Given the description of an element on the screen output the (x, y) to click on. 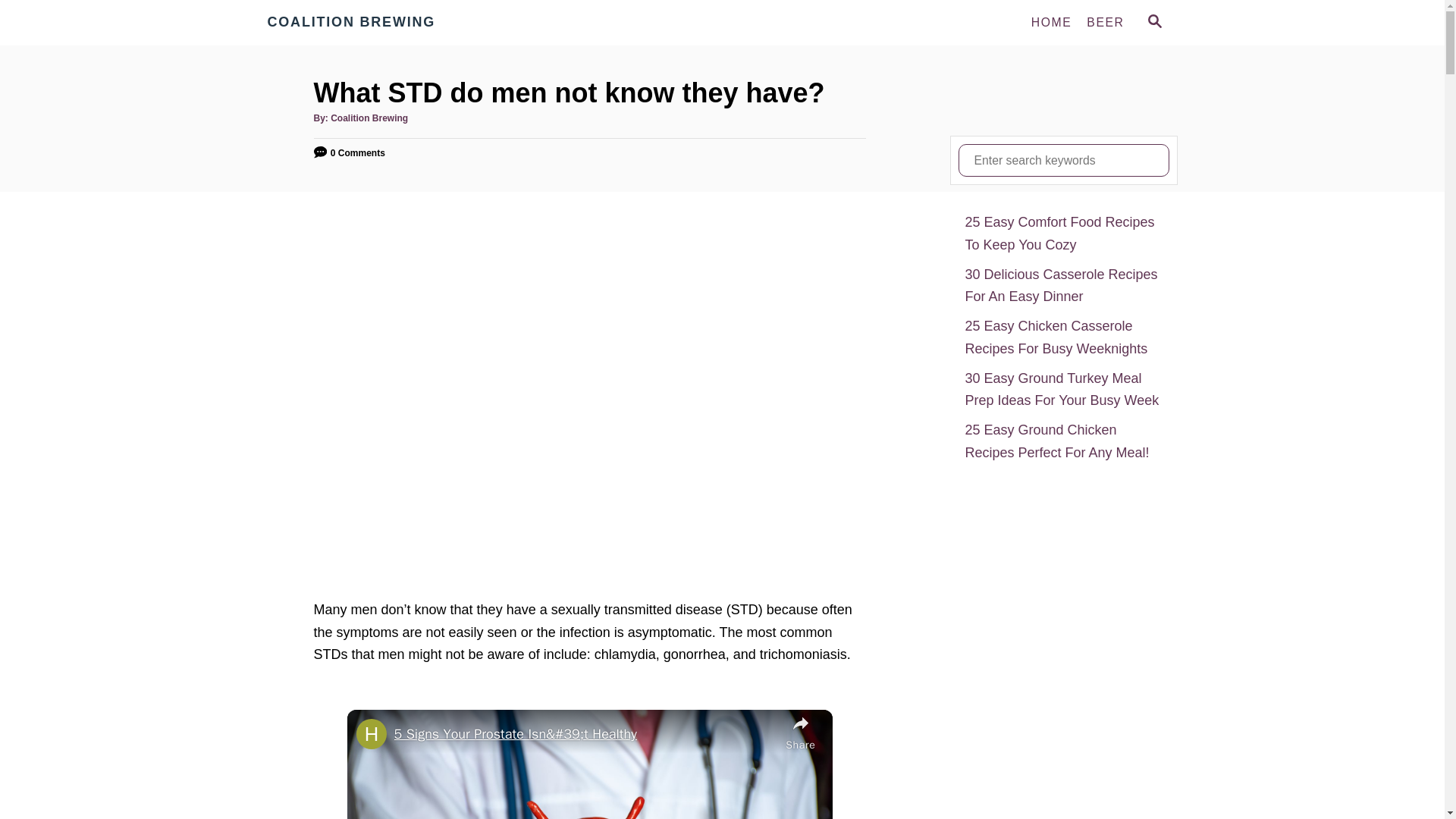
BEER (1104, 22)
HOME (1051, 22)
Coalition Brewing (368, 118)
SEARCH (1153, 22)
Coalition Brewing (403, 22)
COALITION BREWING (403, 22)
